Given the description of an element on the screen output the (x, y) to click on. 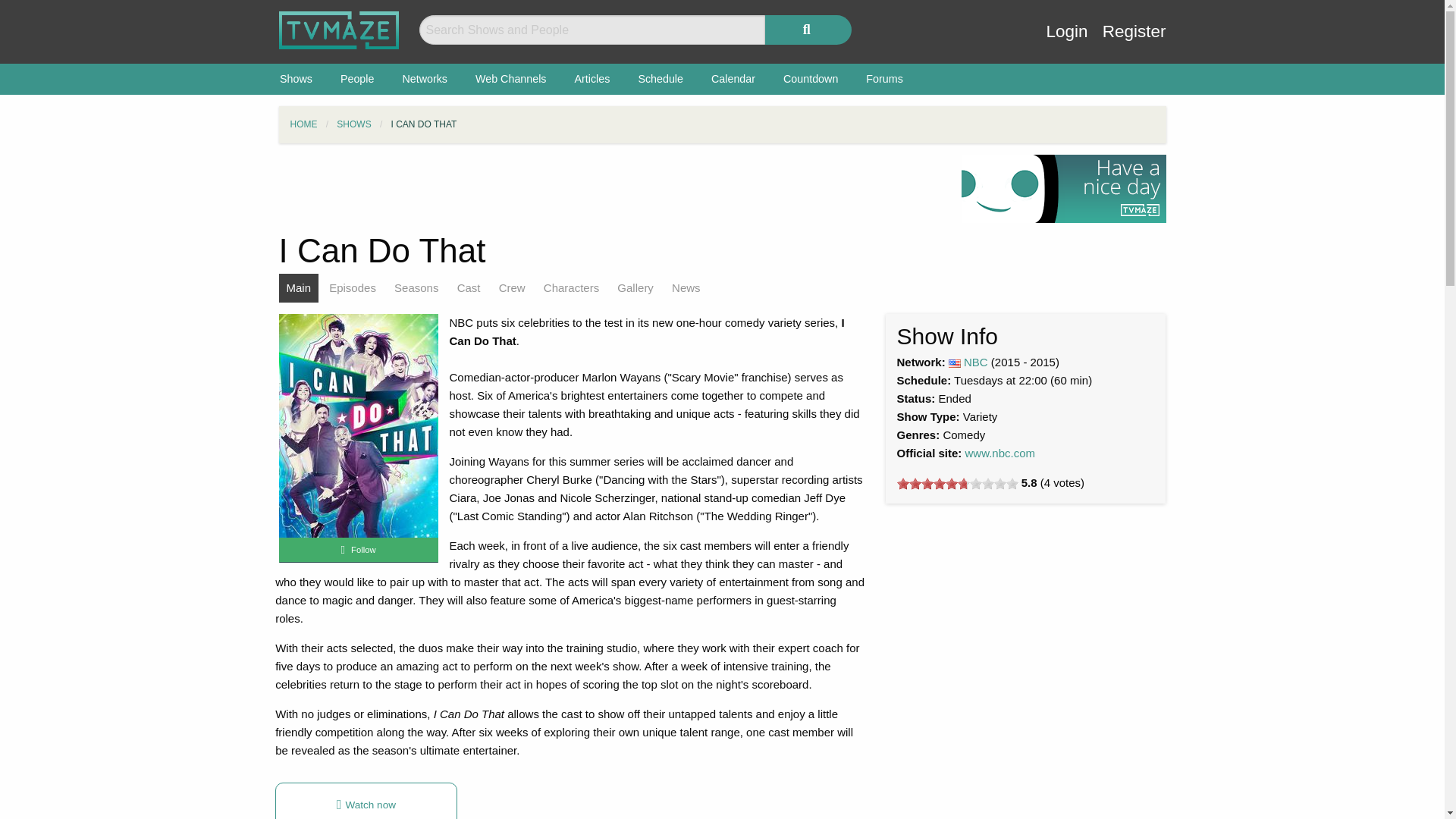
Crew (512, 287)
Networks (425, 79)
News (685, 287)
Characters (571, 287)
Forums (884, 79)
Shows (295, 79)
SHOWS (353, 123)
People (357, 79)
Calendar (732, 79)
Gallery (635, 287)
28 followers (358, 550)
Articles (592, 79)
Main (298, 287)
Register (1134, 42)
